Given the description of an element on the screen output the (x, y) to click on. 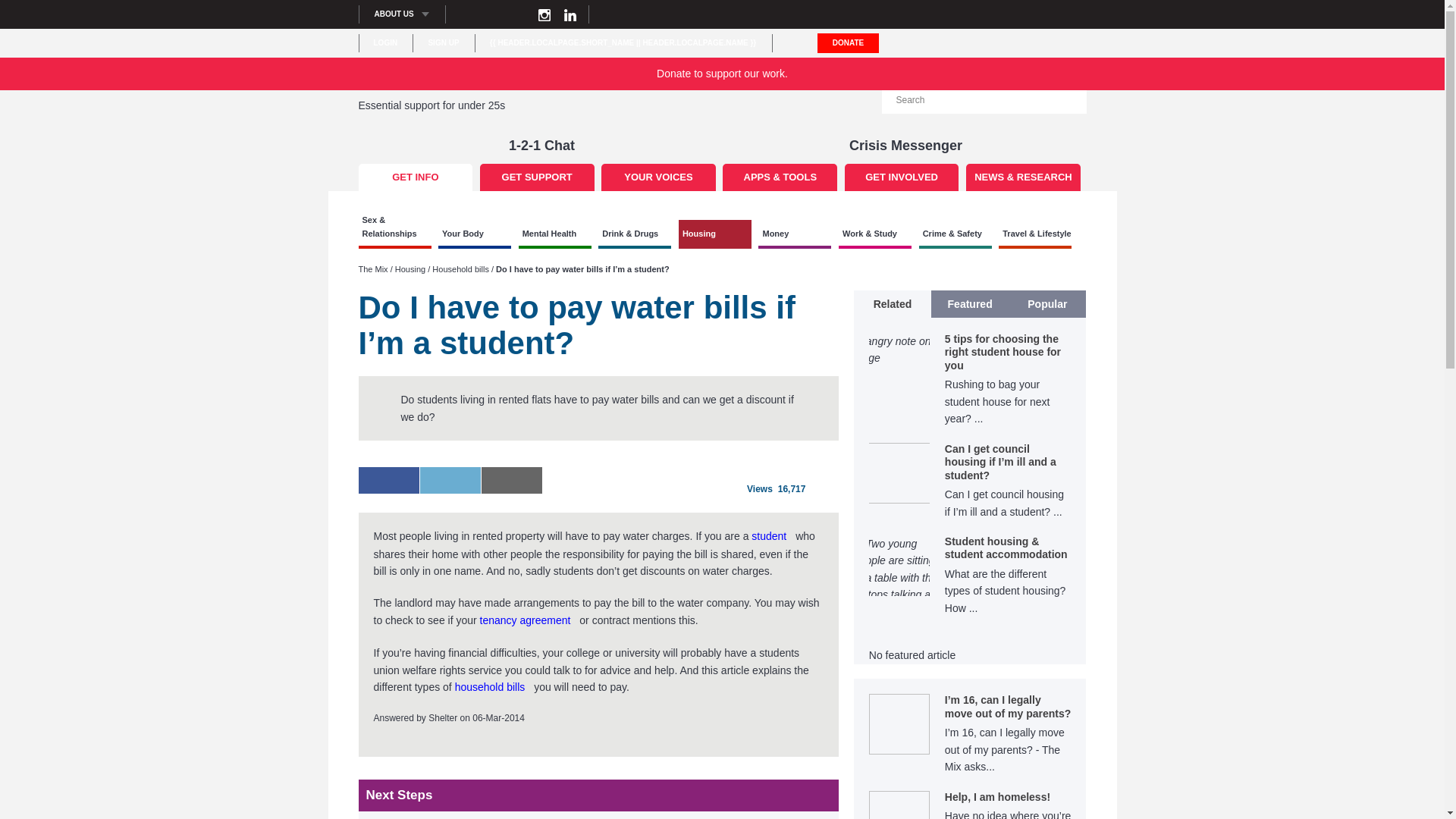
Help, I am homeless! (1007, 805)
5 tips for choosing the right student house for you (970, 387)
DONATE (847, 43)
Your Body (474, 234)
Page Views (775, 489)
LOGIN (385, 42)
Mental Health (554, 234)
SIGN UP (443, 42)
Money (794, 234)
Housing (714, 234)
